Given the description of an element on the screen output the (x, y) to click on. 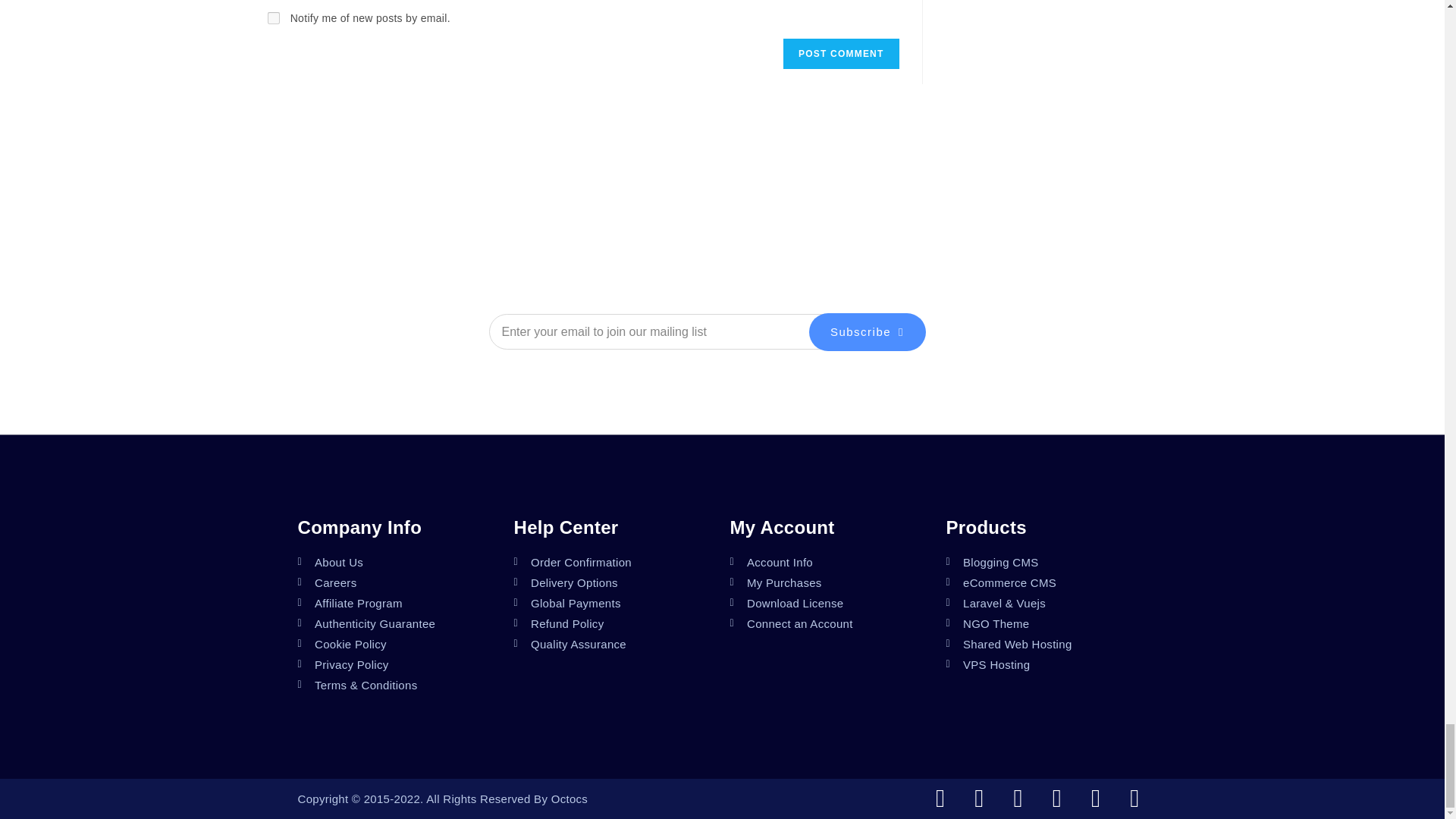
subscribe (272, 18)
Post Comment (840, 53)
